Given the description of an element on the screen output the (x, y) to click on. 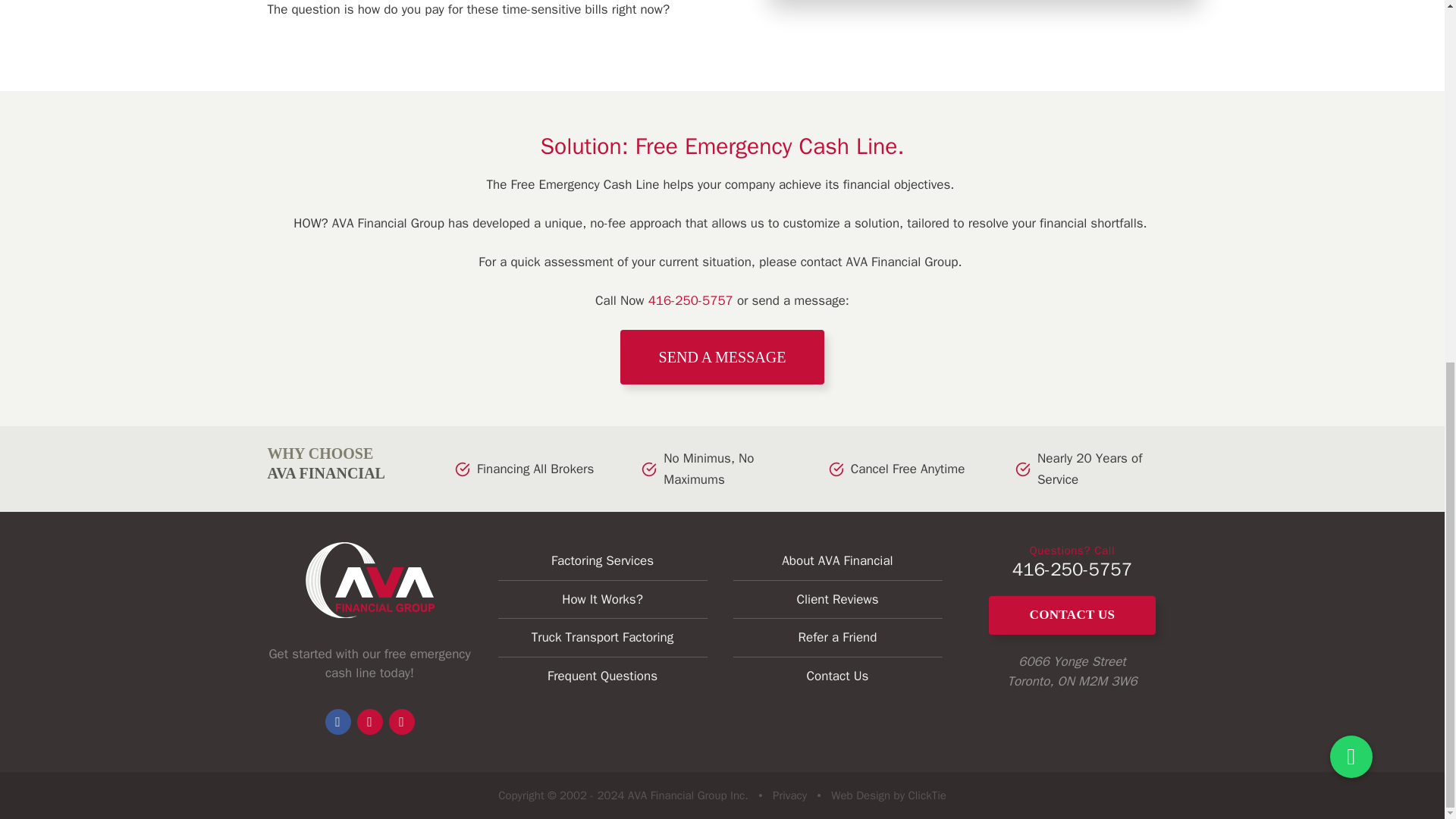
Default Label (400, 720)
Instagram (368, 720)
Facebook (337, 720)
